Given the description of an element on the screen output the (x, y) to click on. 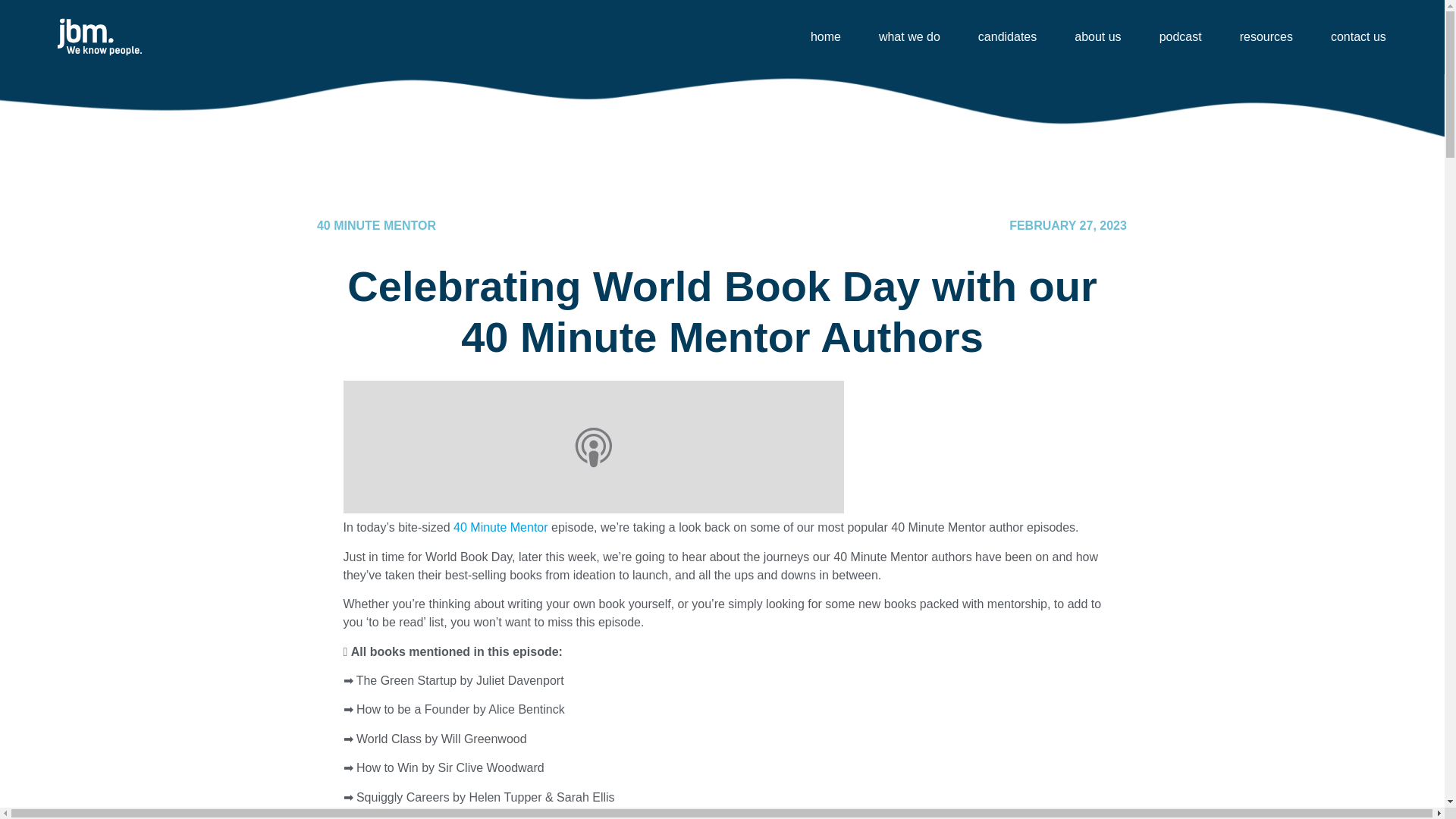
contact us (1358, 36)
podcast (1180, 36)
what we do (909, 36)
home (825, 36)
candidates (1006, 36)
40 Minute Mentor (500, 526)
resources (1265, 36)
about us (1097, 36)
